Given the description of an element on the screen output the (x, y) to click on. 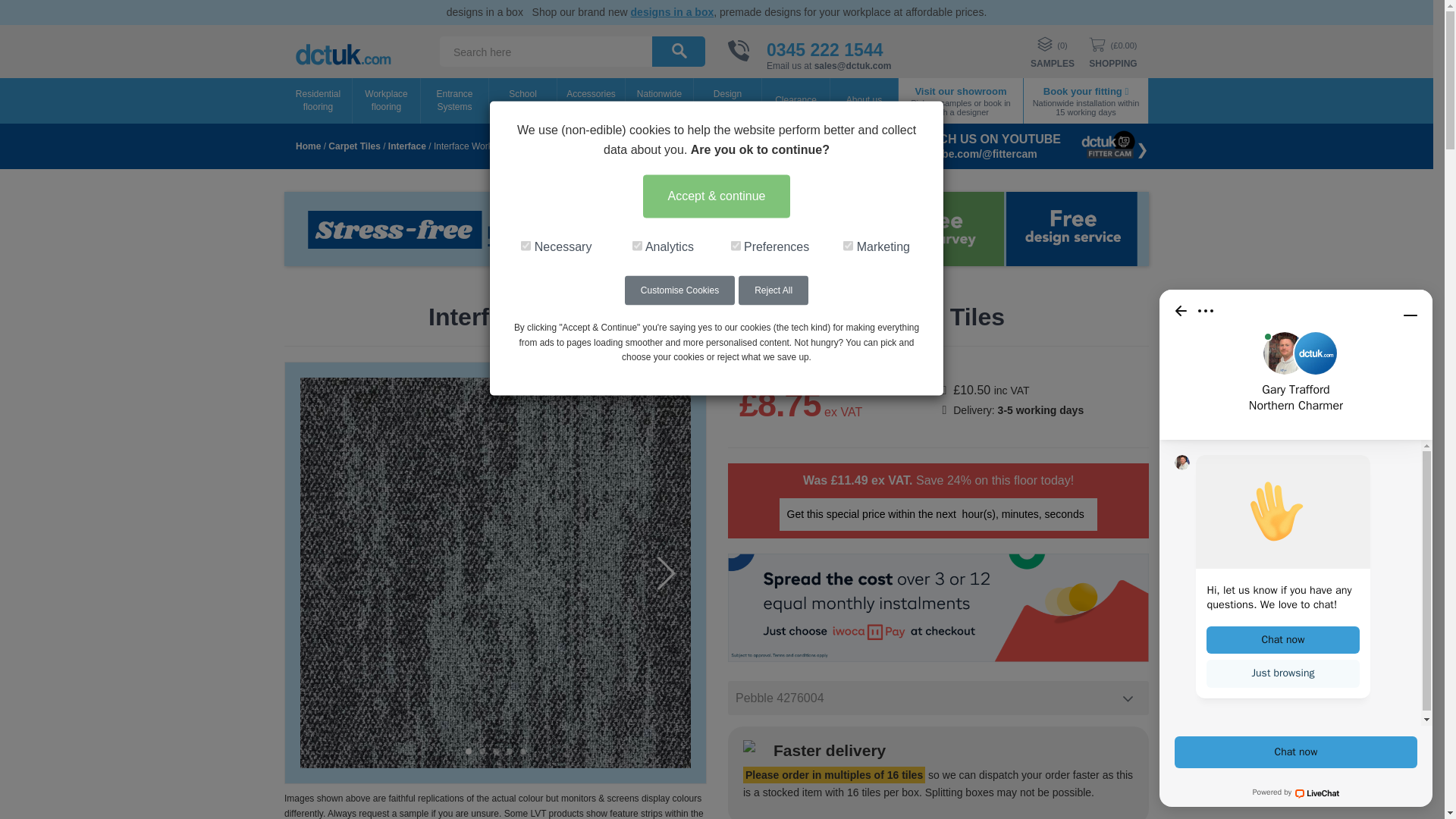
on (526, 245)
Search DCTUK (679, 50)
on (735, 245)
on (636, 245)
on (848, 245)
0345 222 1544 (825, 49)
designs in a box (672, 11)
